Given the description of an element on the screen output the (x, y) to click on. 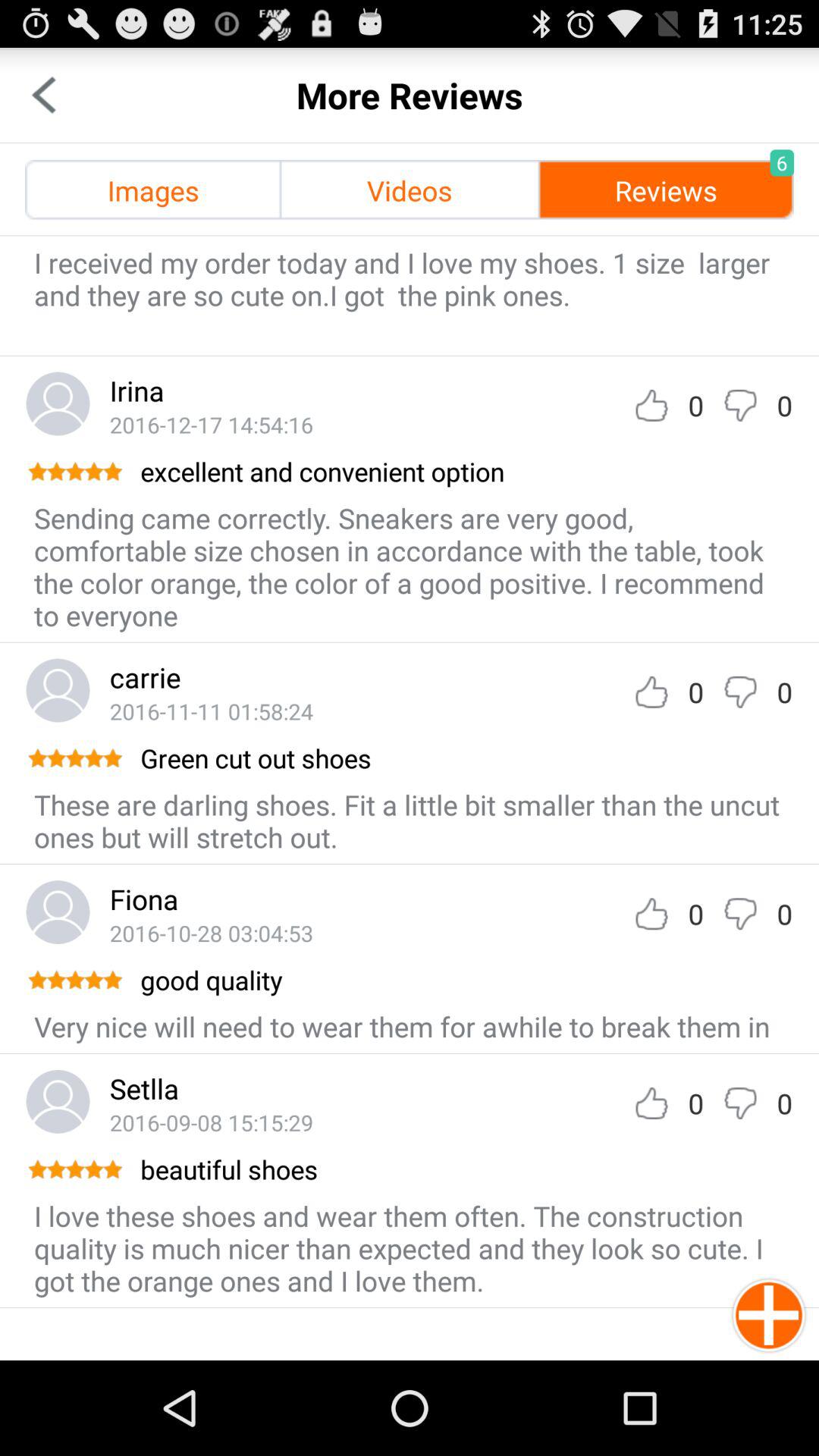
dislike option (740, 913)
